Given the description of an element on the screen output the (x, y) to click on. 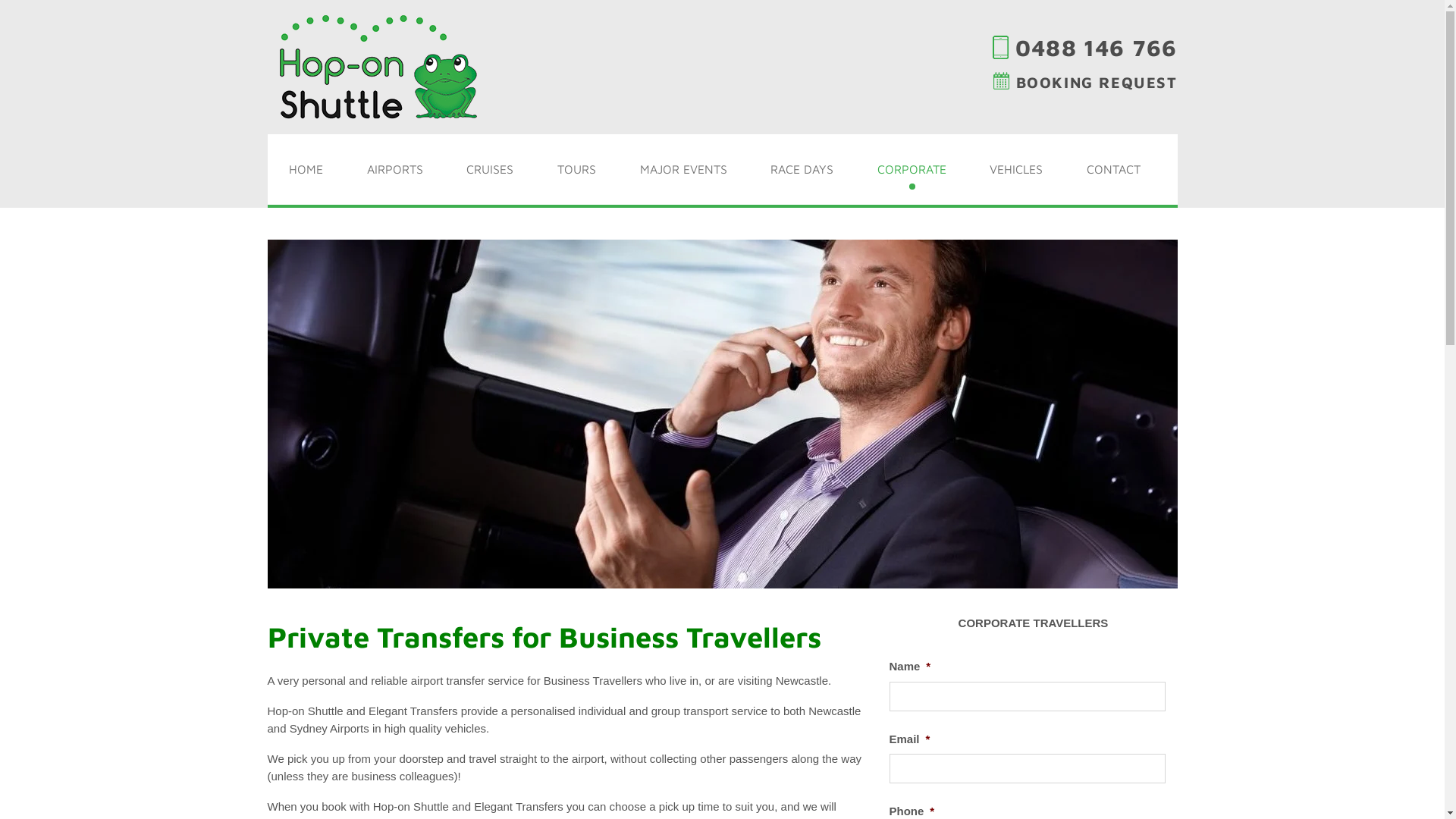
0488 146 766 Element type: text (1084, 47)
RACE DAYS Element type: text (801, 169)
CONTACT Element type: text (1113, 169)
CORPORATE Element type: text (911, 169)
BOOKING REQUEST Element type: text (1085, 82)
MAJOR EVENTS Element type: text (683, 169)
VEHICLES Element type: text (1016, 169)
AIRPORTS Element type: text (395, 169)
CRUISES Element type: text (490, 169)
TOURS Element type: text (576, 169)
HOME Element type: text (305, 169)
